Given the description of an element on the screen output the (x, y) to click on. 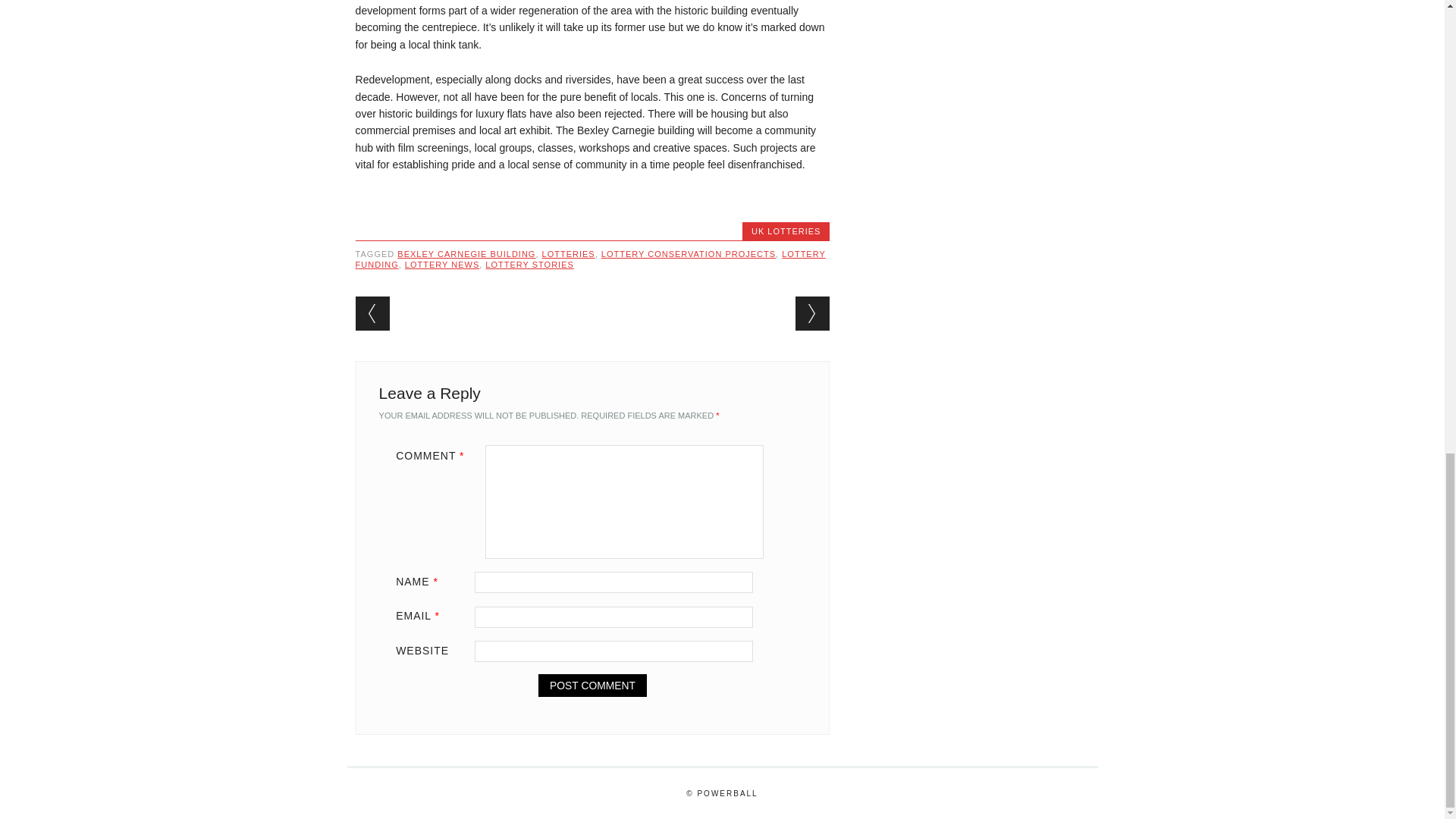
LOTTERY STORIES (528, 264)
LOTTERY FUNDING (590, 259)
Post Comment (592, 685)
UK LOTTERIES (786, 230)
LOTTERY NEWS (441, 264)
LOTTERY CONSERVATION PROJECTS (688, 253)
LOTTERIES (568, 253)
Post Comment (592, 685)
BEXLEY CARNEGIE BUILDING (466, 253)
